Given the description of an element on the screen output the (x, y) to click on. 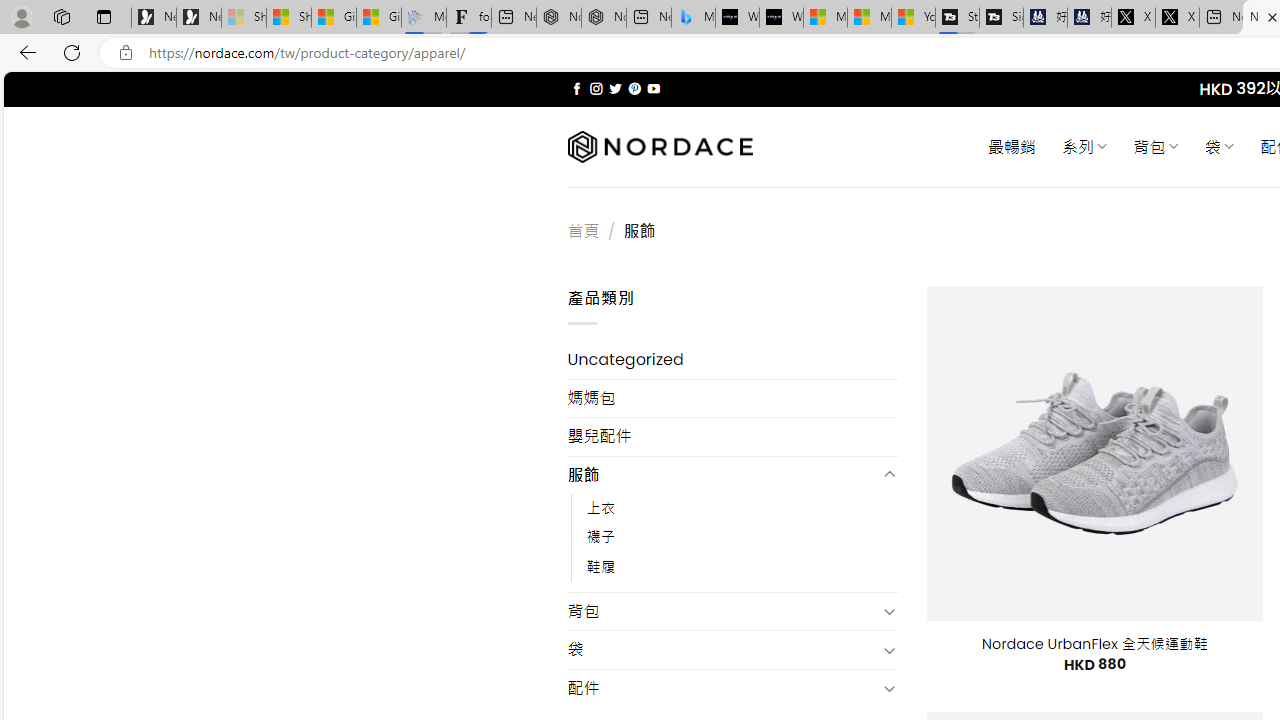
Uncategorized (732, 359)
X (1177, 17)
Microsoft Bing Travel - Shangri-La Hotel Bangkok (693, 17)
Streaming Coverage | T3 (957, 17)
Follow on Pinterest (634, 88)
Follow on Instagram (596, 88)
